Given the description of an element on the screen output the (x, y) to click on. 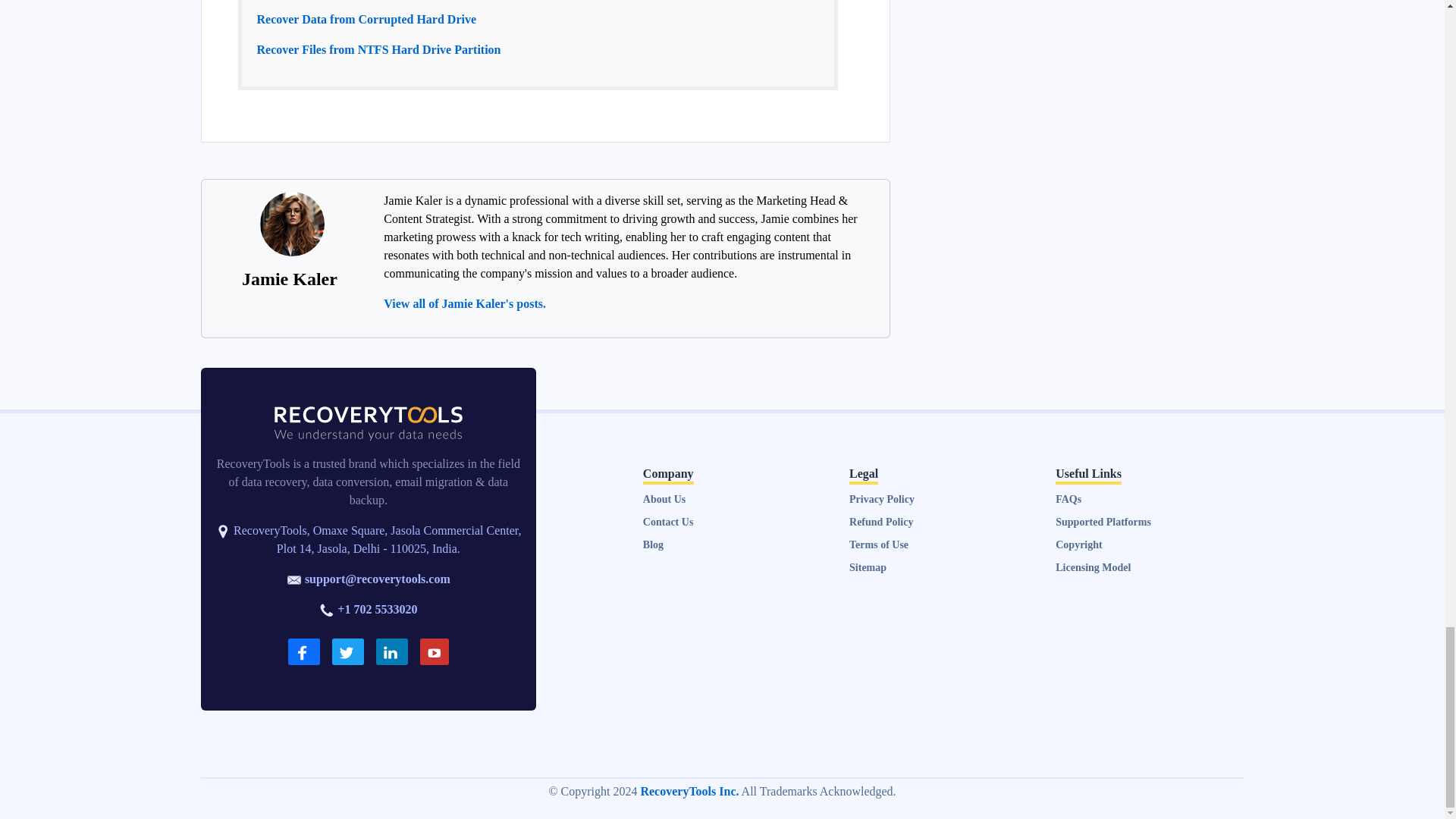
Recover Files from NTFS Hard Drive Partition (378, 49)
Privacy Policy (881, 499)
Recover Data from Corrupted Hard Drive (366, 19)
View all of Jamie Kaler's posts. (465, 303)
About Us (664, 499)
Contact Us (668, 521)
Blog (653, 544)
